Given the description of an element on the screen output the (x, y) to click on. 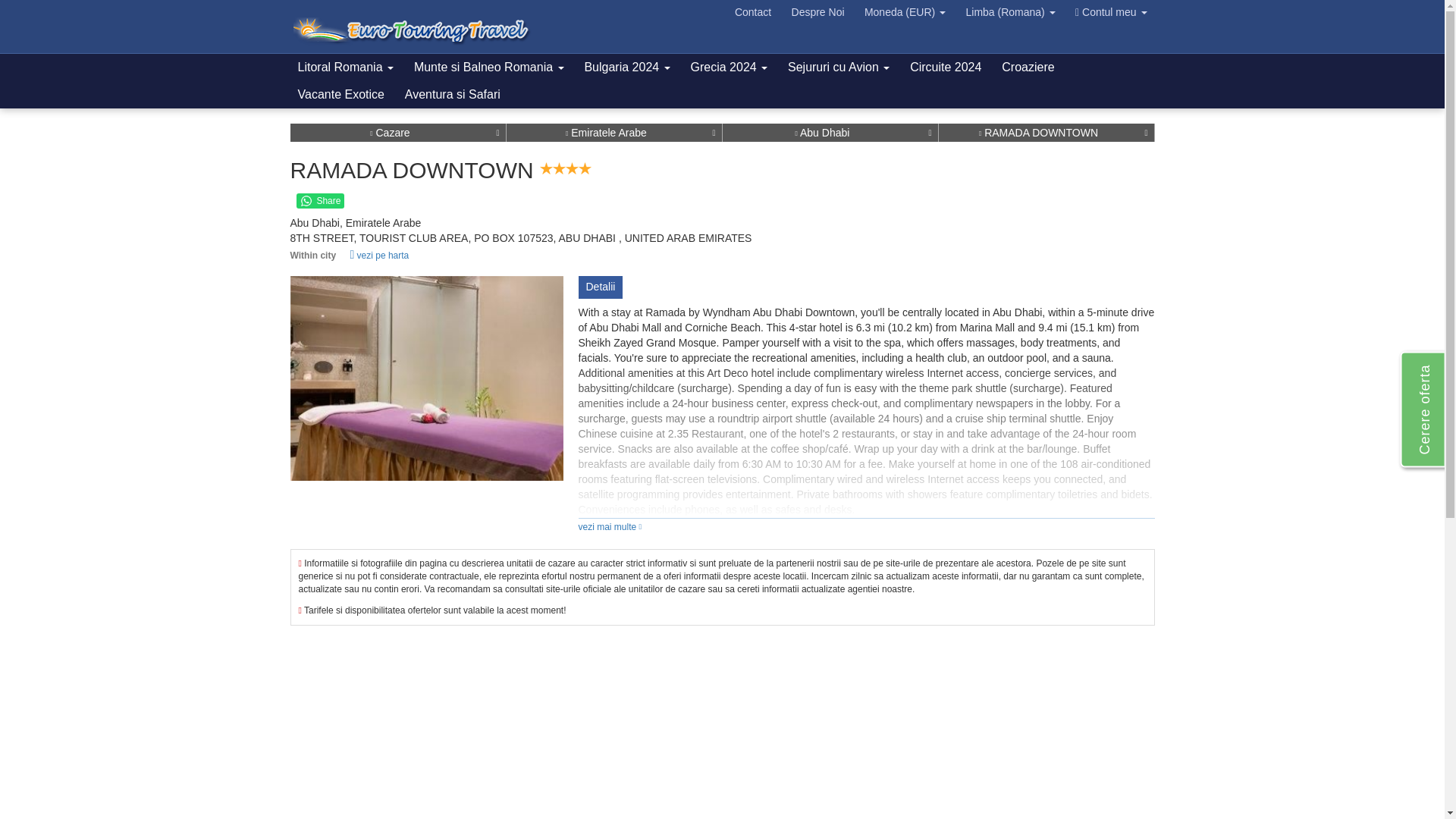
Within city (574, 255)
Munte si Balneo Romania (489, 67)
Litoral Romania (345, 67)
Bulgaria 2024 (626, 67)
